Given the description of an element on the screen output the (x, y) to click on. 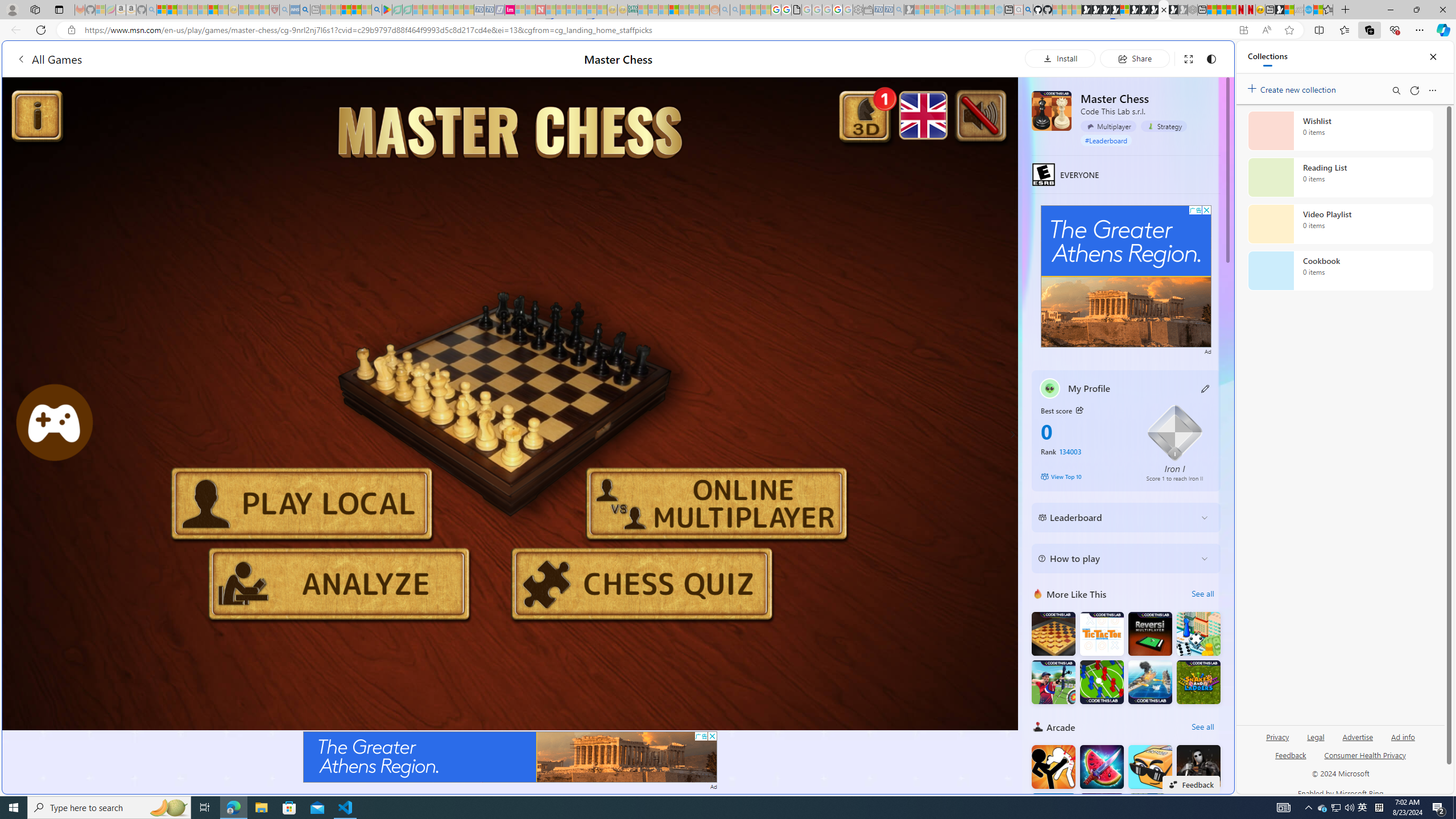
Arcade (1037, 726)
See all (1202, 726)
Sign in to your account (1124, 9)
Advertisement (1126, 276)
Jobs - lastminute.com Investor Portal - Sleeping (509, 9)
Create new collection (1293, 87)
Install (1060, 58)
Cubes2048 (1149, 766)
MSNBC - MSN - Sleeping (642, 9)
""'s avatar (1049, 387)
#Leaderboard (1106, 140)
